Given the description of an element on the screen output the (x, y) to click on. 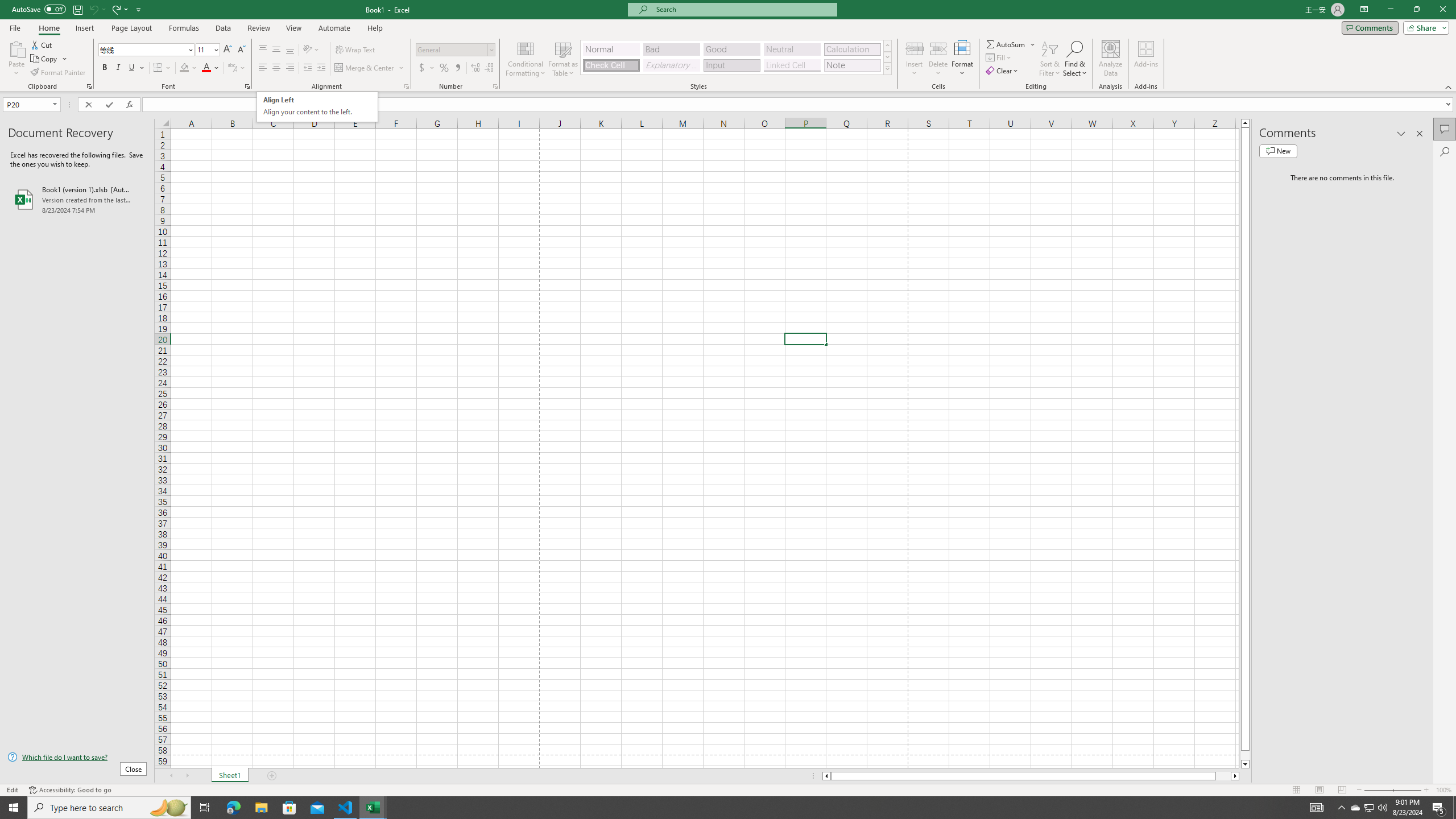
Find & Select (1075, 58)
Sort & Filter (1049, 58)
Merge & Center (365, 67)
Format Cell Number (494, 85)
Input (731, 65)
AutomationID: CellStylesGallery (736, 57)
Font Color RGB(255, 0, 0) (206, 67)
Fill Color RGB(255, 255, 0) (183, 67)
Percent Style (443, 67)
